Given the description of an element on the screen output the (x, y) to click on. 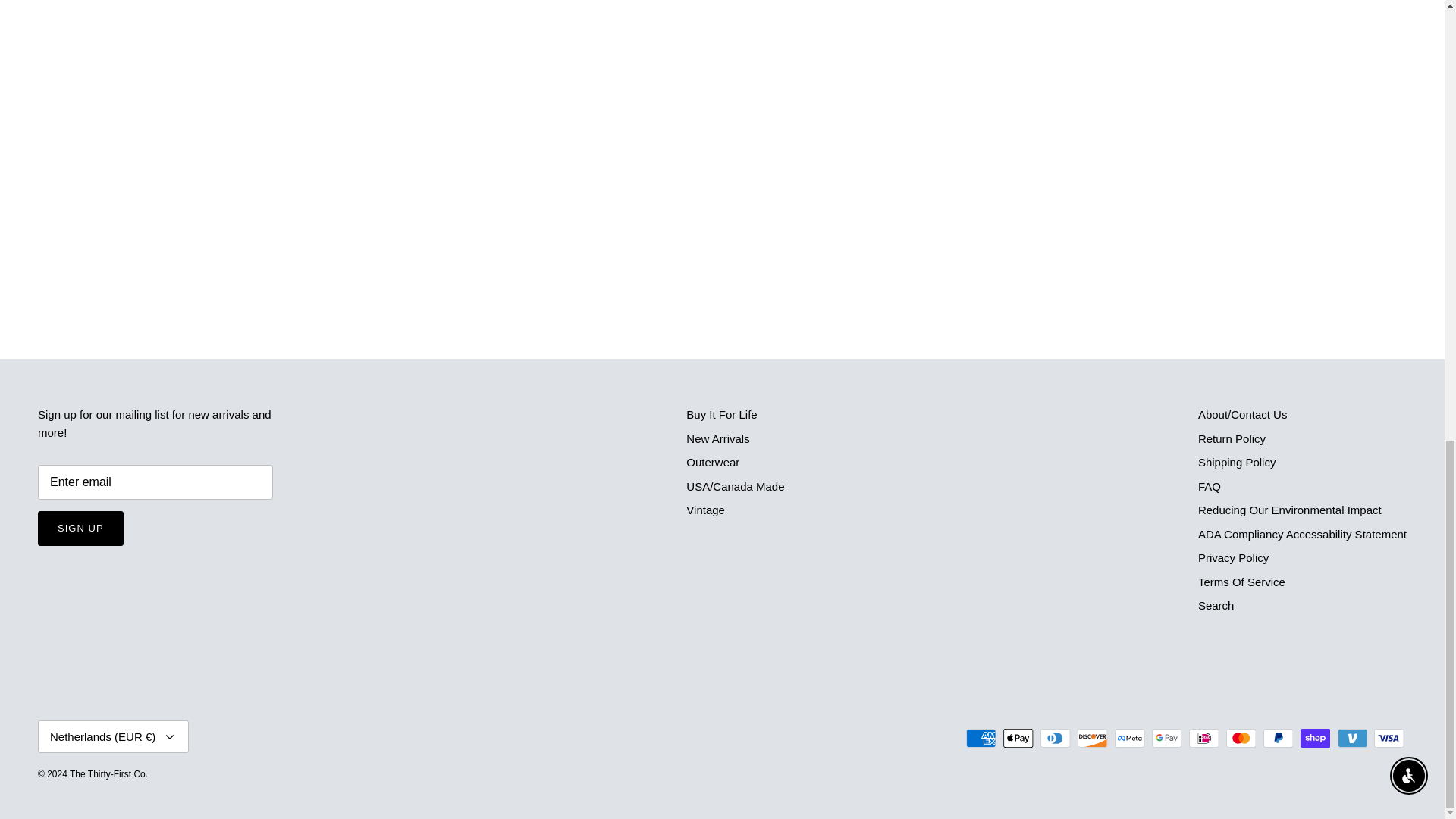
American Express (980, 737)
Apple Pay (1018, 737)
Meta Pay (1129, 737)
Venmo (1352, 737)
Diners Club (1055, 737)
Mastercard (1240, 737)
Shop Pay (1315, 737)
Discover (1092, 737)
Down (169, 736)
Google Pay (1166, 737)
iDEAL (1203, 737)
PayPal (1277, 737)
Visa (1388, 737)
